Given the description of an element on the screen output the (x, y) to click on. 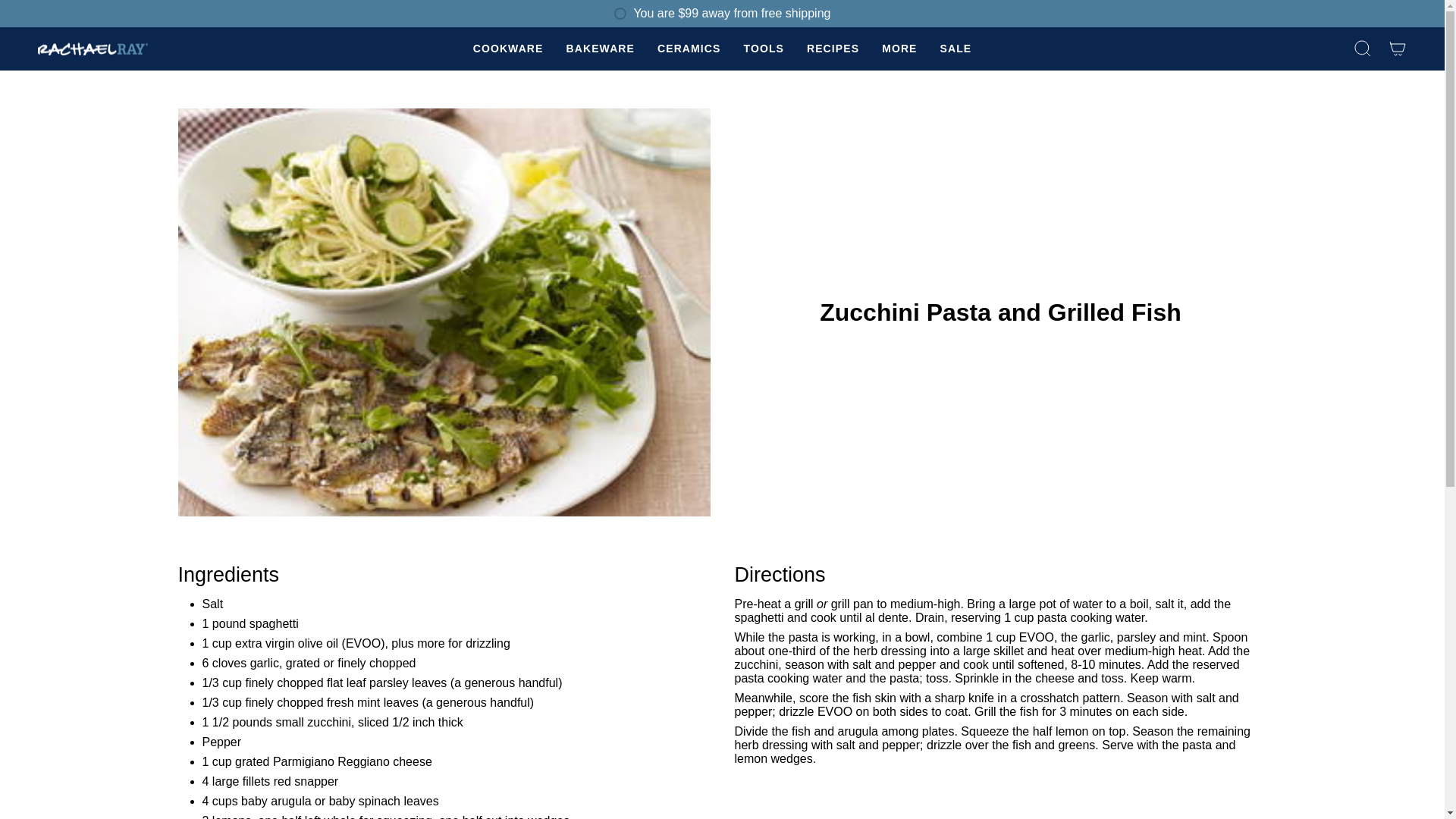
COOKWARE (507, 48)
Search (1362, 48)
Cart (1397, 48)
